Given the description of an element on the screen output the (x, y) to click on. 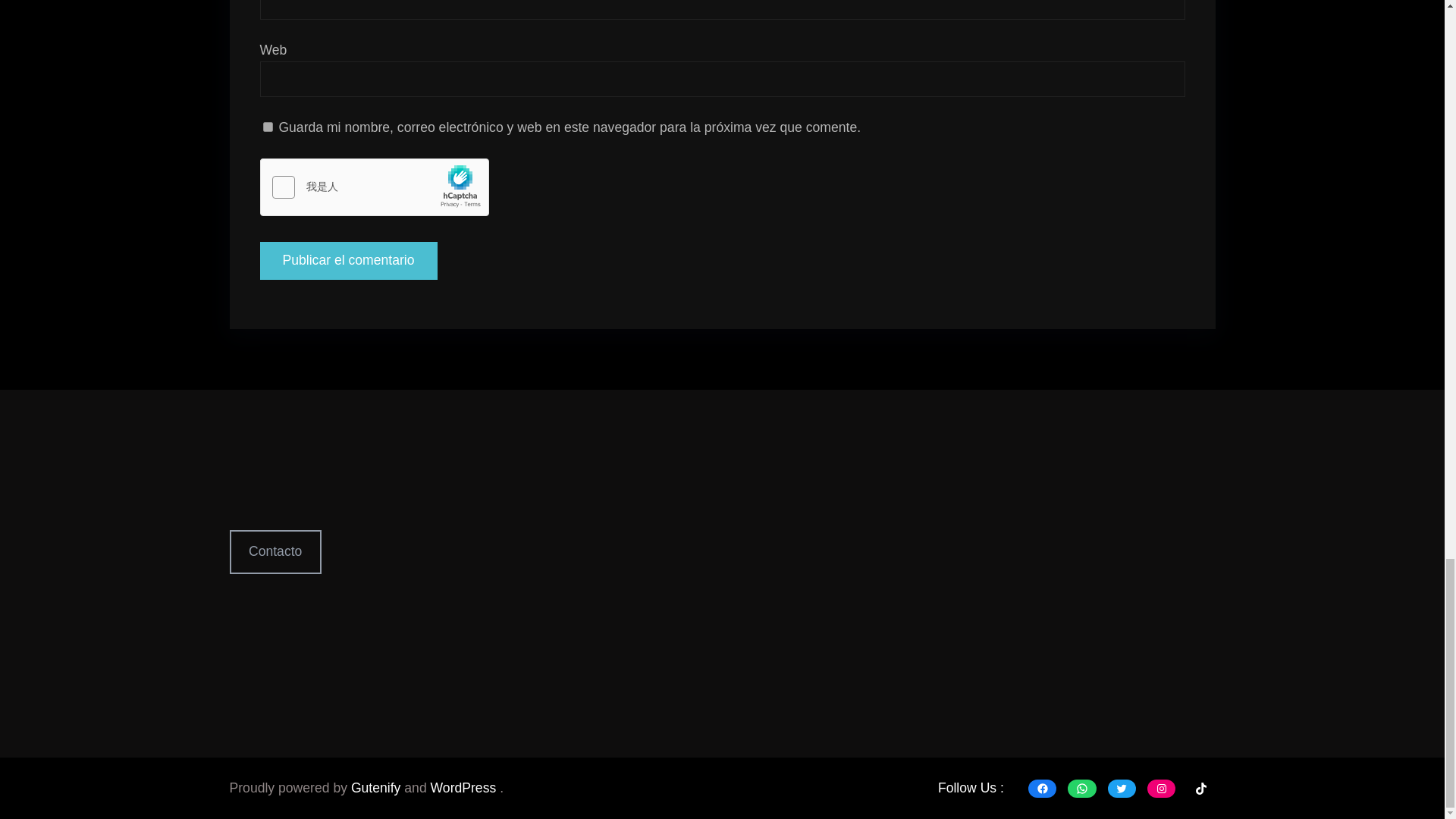
Widget containing checkbox for hCaptcha security challenge (374, 205)
WordPress (465, 787)
yes (267, 128)
Gutenify (377, 787)
Publicar el comentario (347, 476)
Contacto (274, 551)
Twitter (1121, 788)
Instagram (1160, 788)
Publicar el comentario (347, 260)
Facebook (1042, 788)
